Given the description of an element on the screen output the (x, y) to click on. 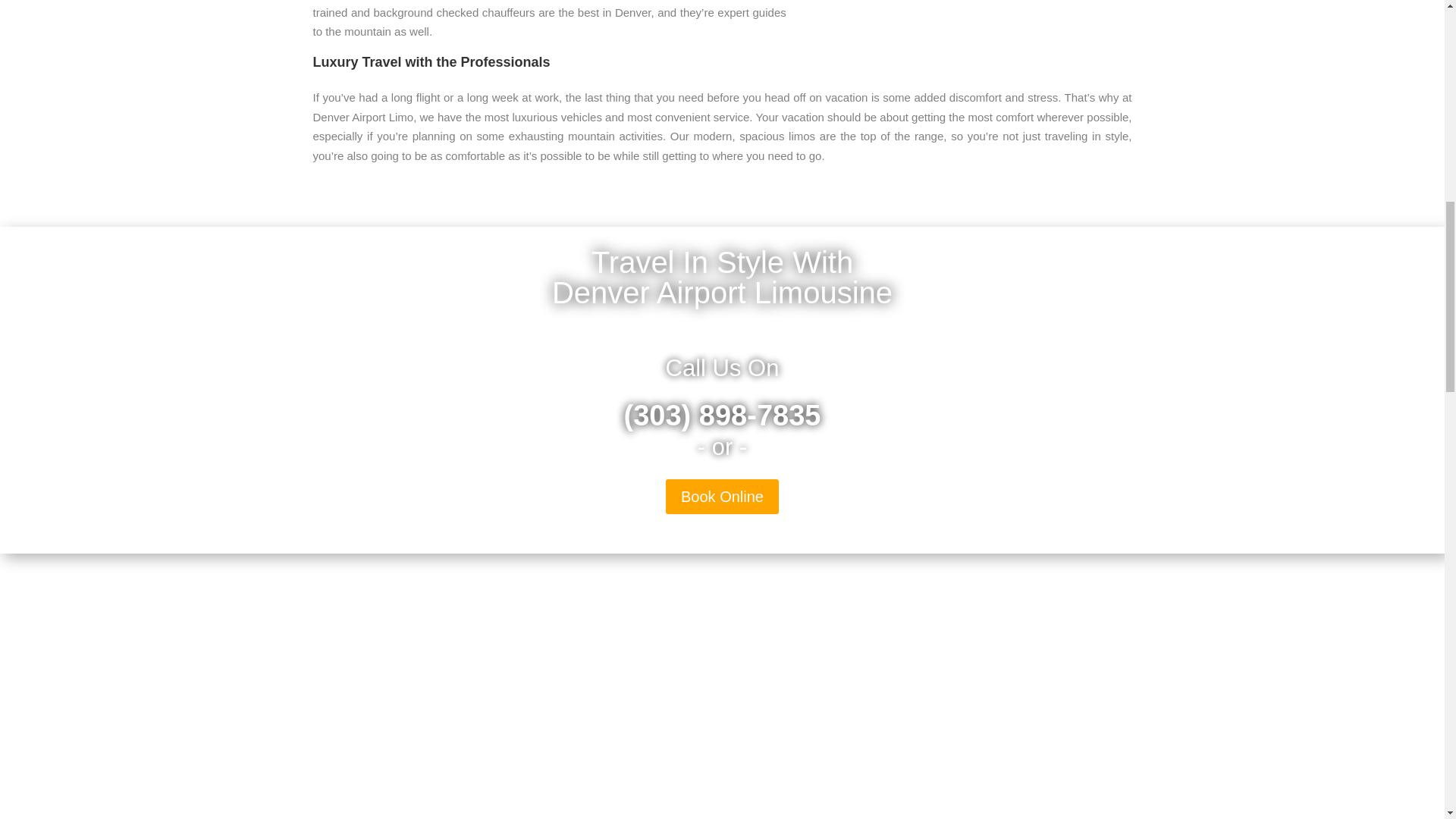
Book Online (721, 496)
